Given the description of an element on the screen output the (x, y) to click on. 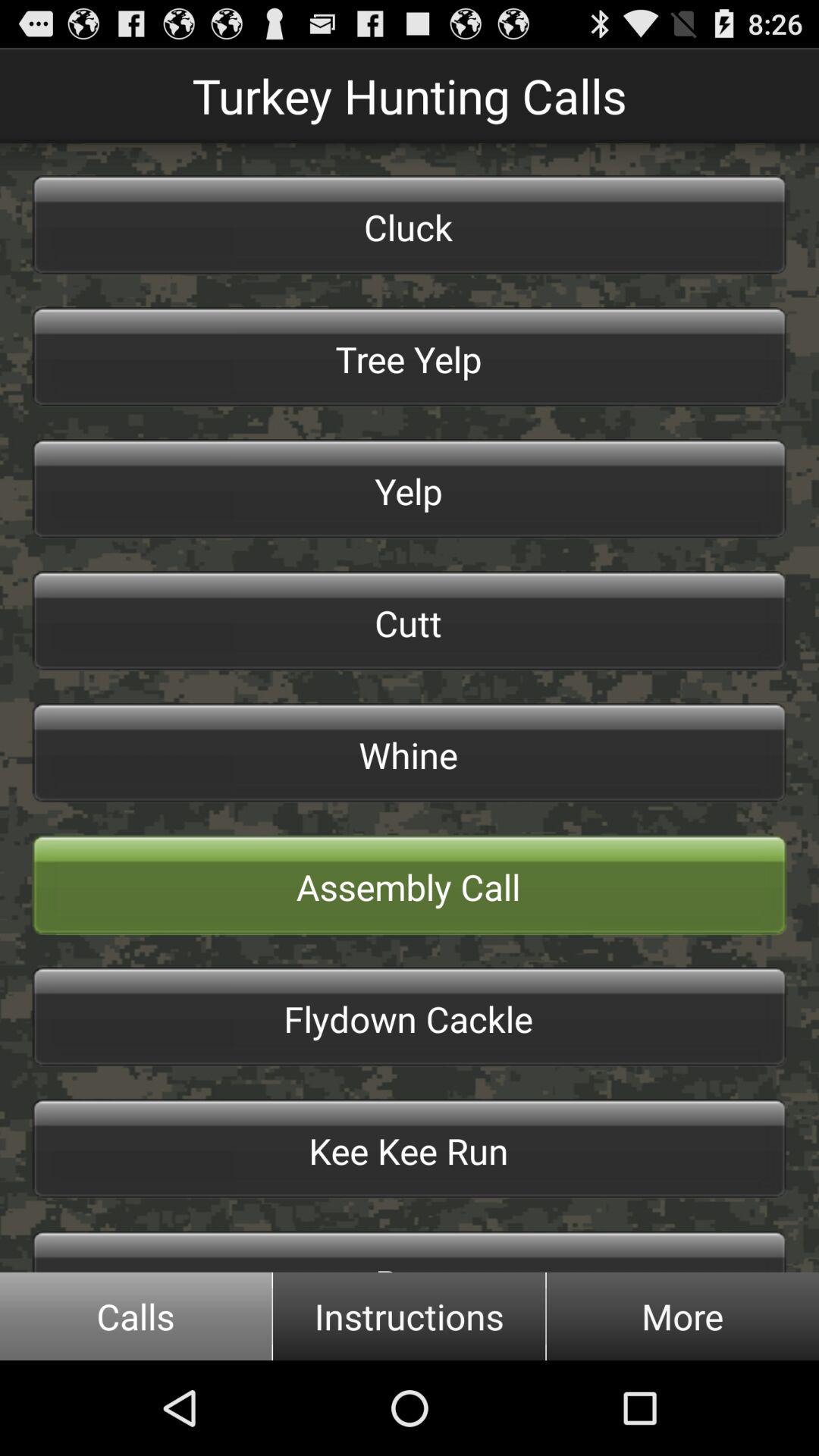
launch the icon below the kee kee run button (409, 1251)
